Given the description of an element on the screen output the (x, y) to click on. 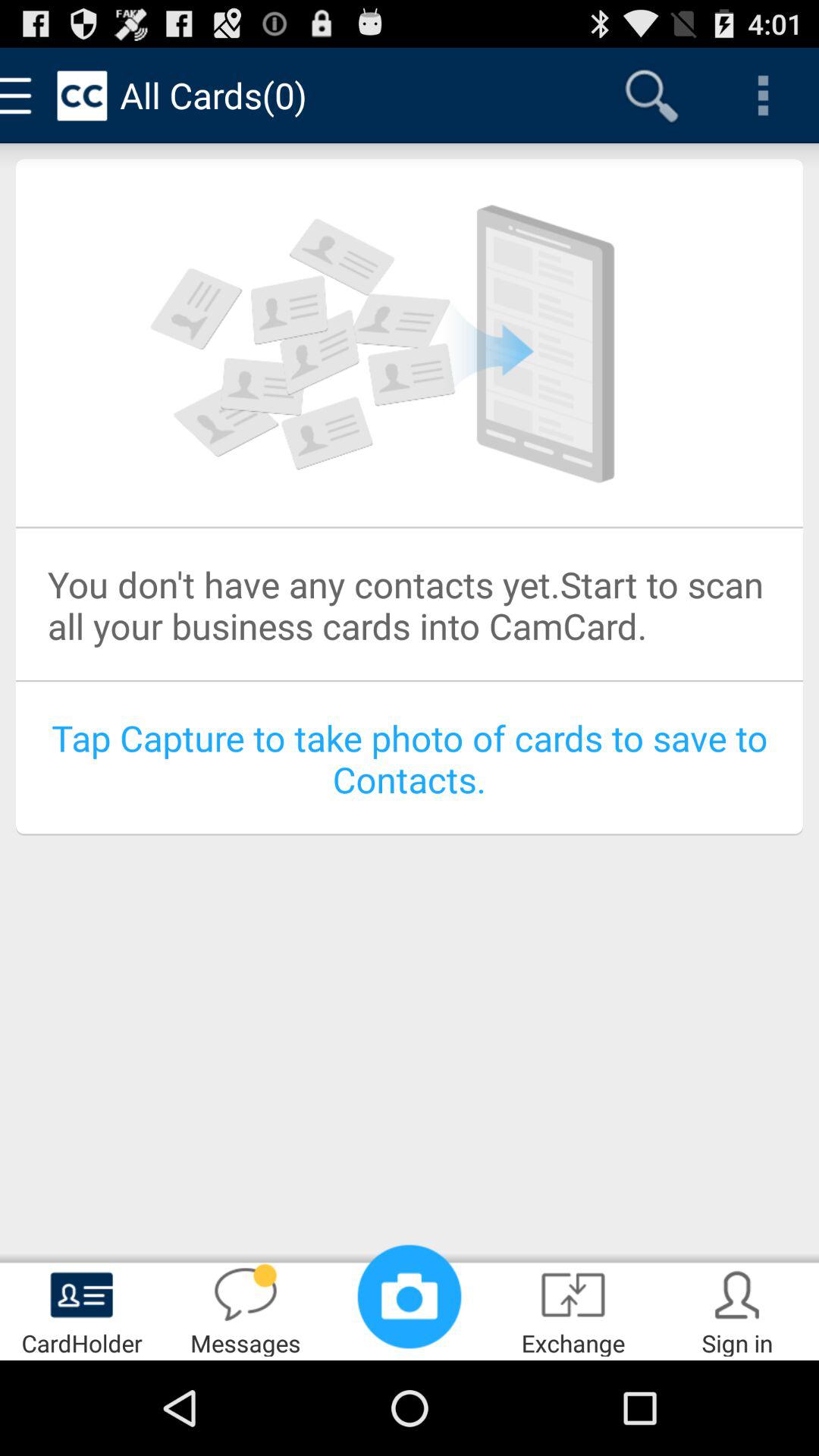
click the app to the right of the exchange item (737, 1309)
